Given the description of an element on the screen output the (x, y) to click on. 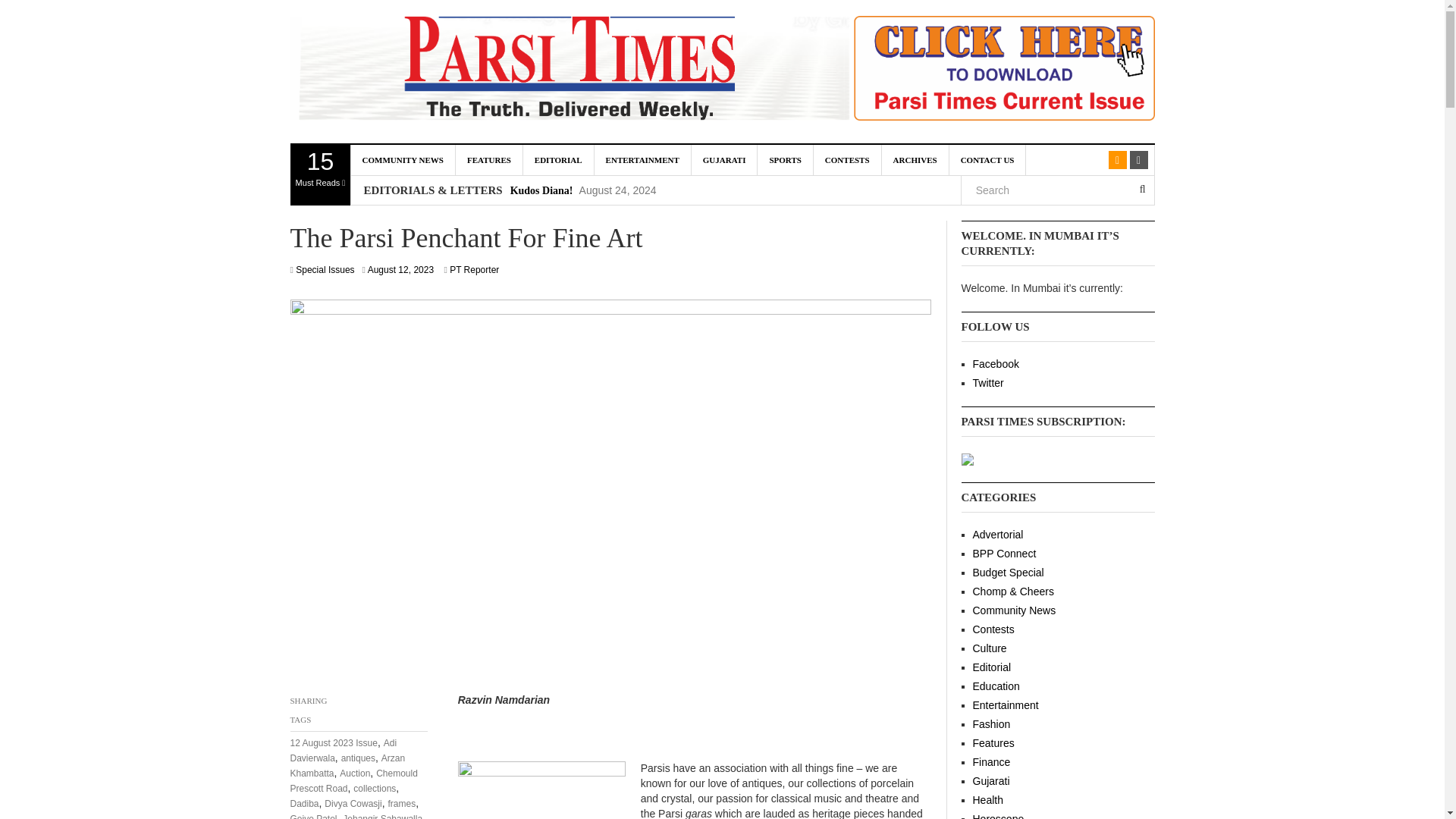
Parsi Times (319, 174)
PT Subscription (564, 71)
COMMUNITY NEWS (1012, 71)
PT SUBSCRIPTION (402, 159)
FEATURES (967, 458)
